Given the description of an element on the screen output the (x, y) to click on. 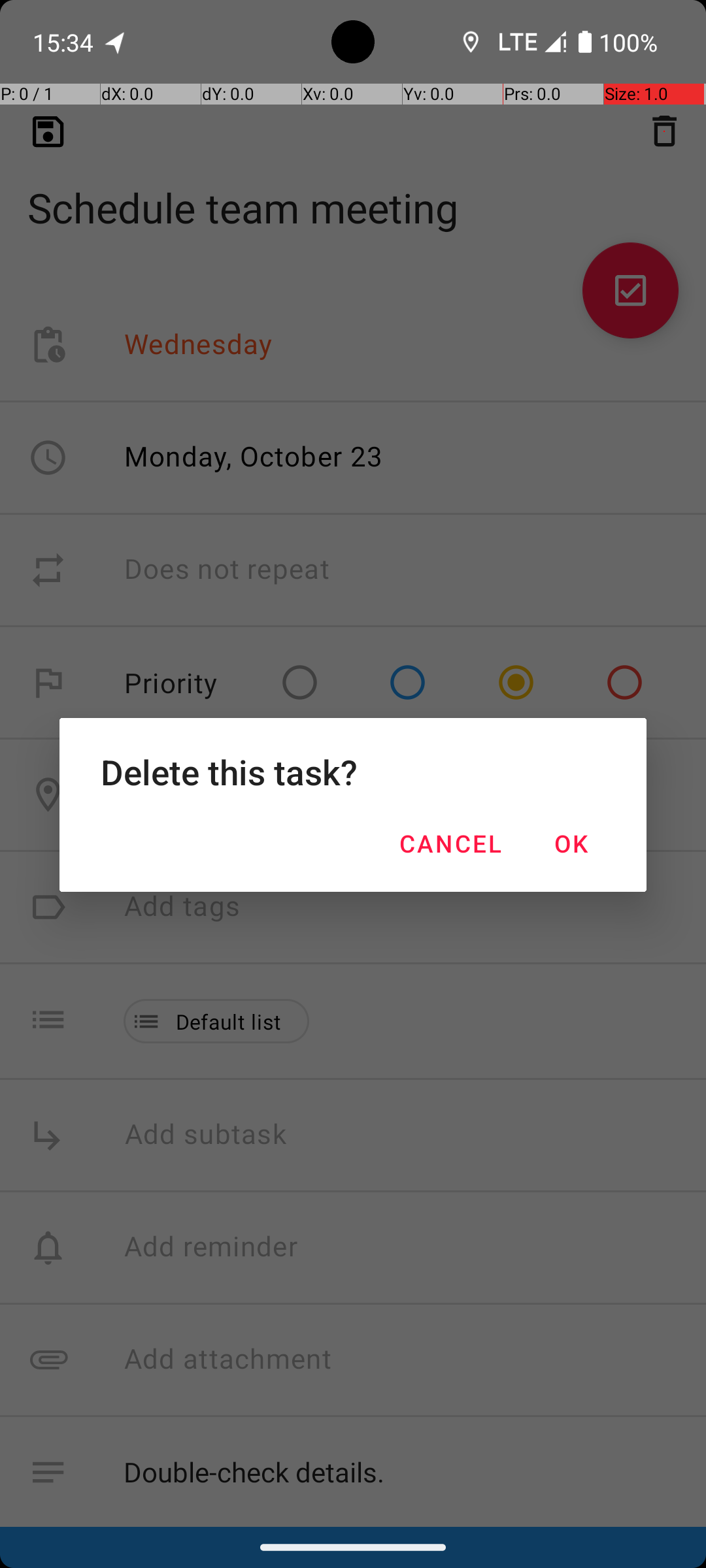
Delete this task? Element type: android.widget.TextView (352, 771)
